Given the description of an element on the screen output the (x, y) to click on. 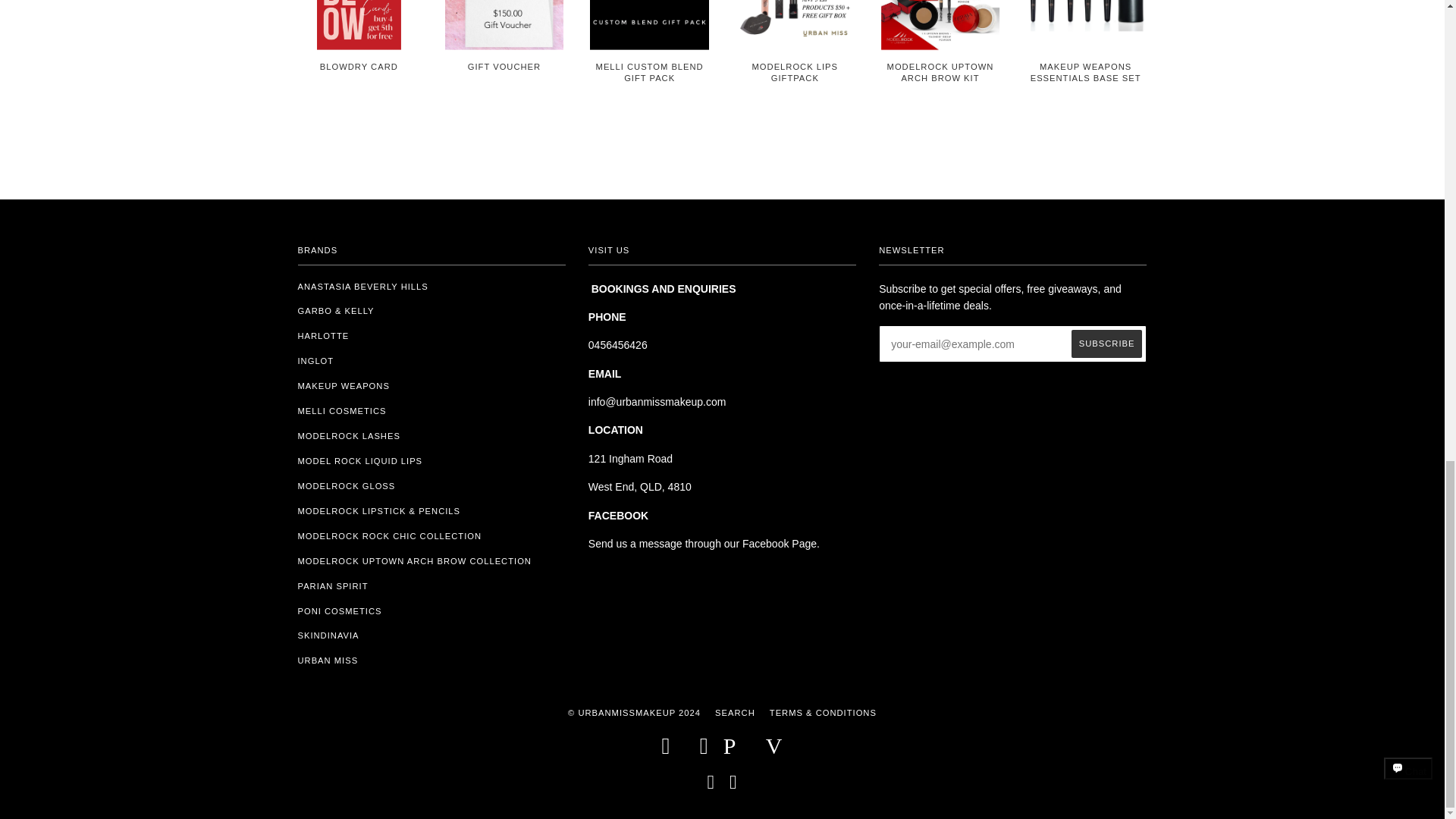
Subscribe (1106, 343)
urbanmissmakeup on Facebook (710, 785)
urbanmissmakeup on Instagram (733, 785)
